Given the description of an element on the screen output the (x, y) to click on. 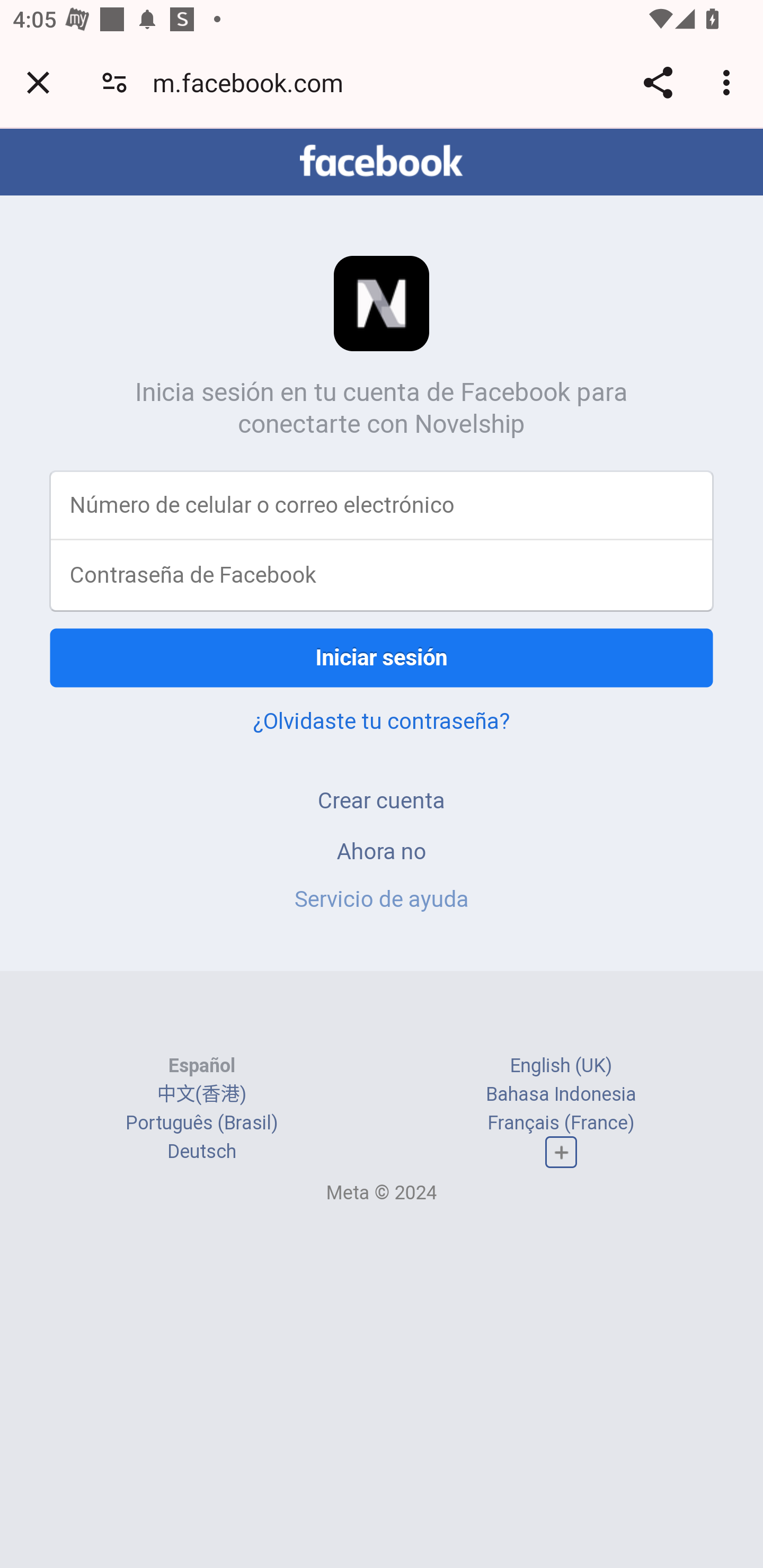
Close tab (38, 82)
Share (657, 82)
Customize and control Google Chrome (729, 82)
Connection is secure (114, 81)
m.facebook.com (254, 81)
facebook (381, 160)
Iniciar sesión (381, 657)
¿Olvidaste tu contraseña? (381, 720)
Crear cuenta (381, 800)
Ahora no (381, 850)
Servicio de ayuda (381, 898)
English (UK) (560, 1065)
中文(香港) (201, 1093)
Bahasa Indonesia (560, 1093)
Português (Brasil) (201, 1122)
Français (France) (560, 1122)
Lista completa de idiomas (560, 1152)
Deutsch (201, 1151)
